Given the description of an element on the screen output the (x, y) to click on. 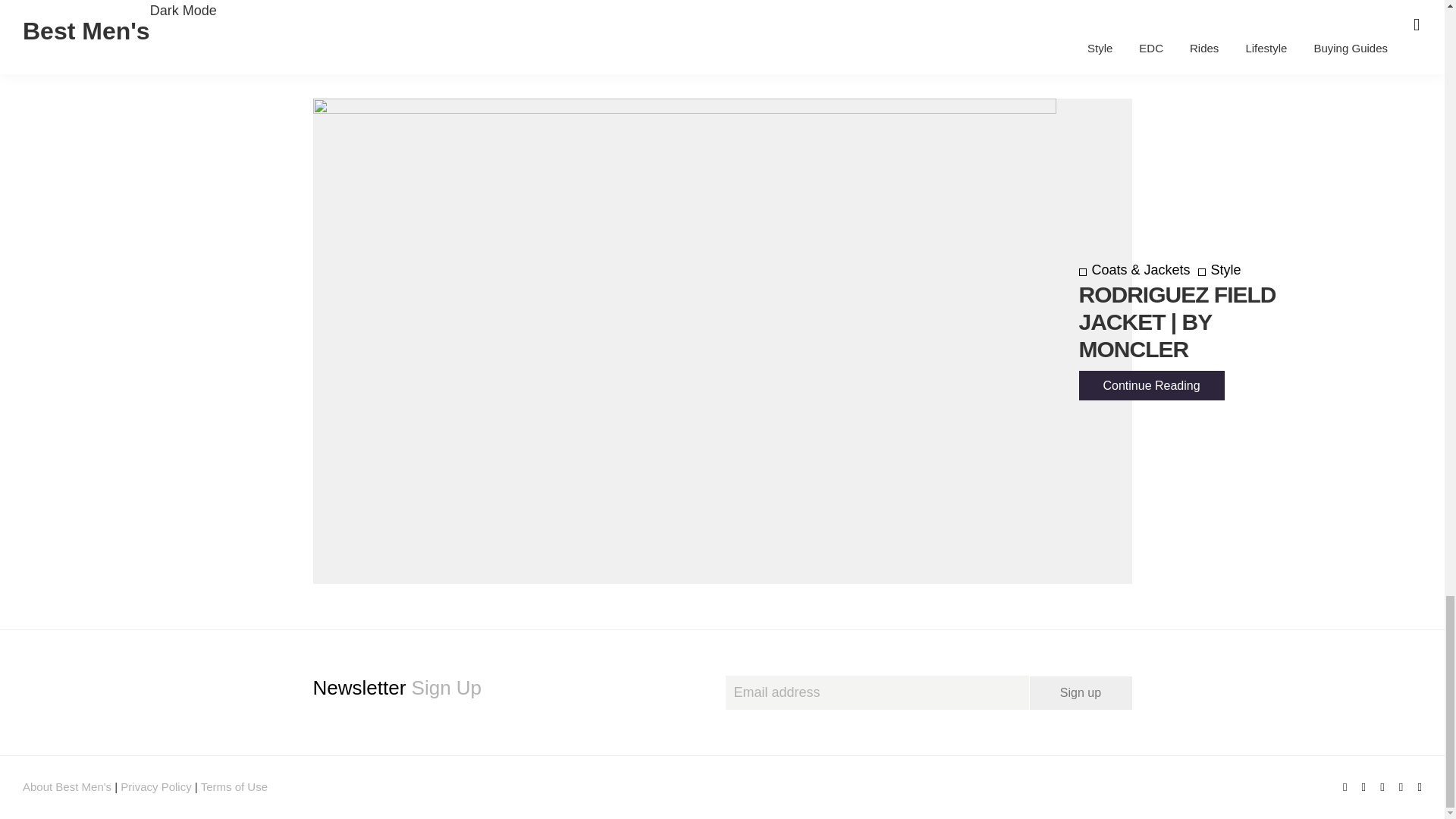
Style (1219, 269)
About Best Men's (67, 786)
Continue Reading (1151, 385)
Terms of Use (233, 786)
Privacy Policy (155, 786)
Sign up (1080, 693)
Sign up (1080, 693)
